Given the description of an element on the screen output the (x, y) to click on. 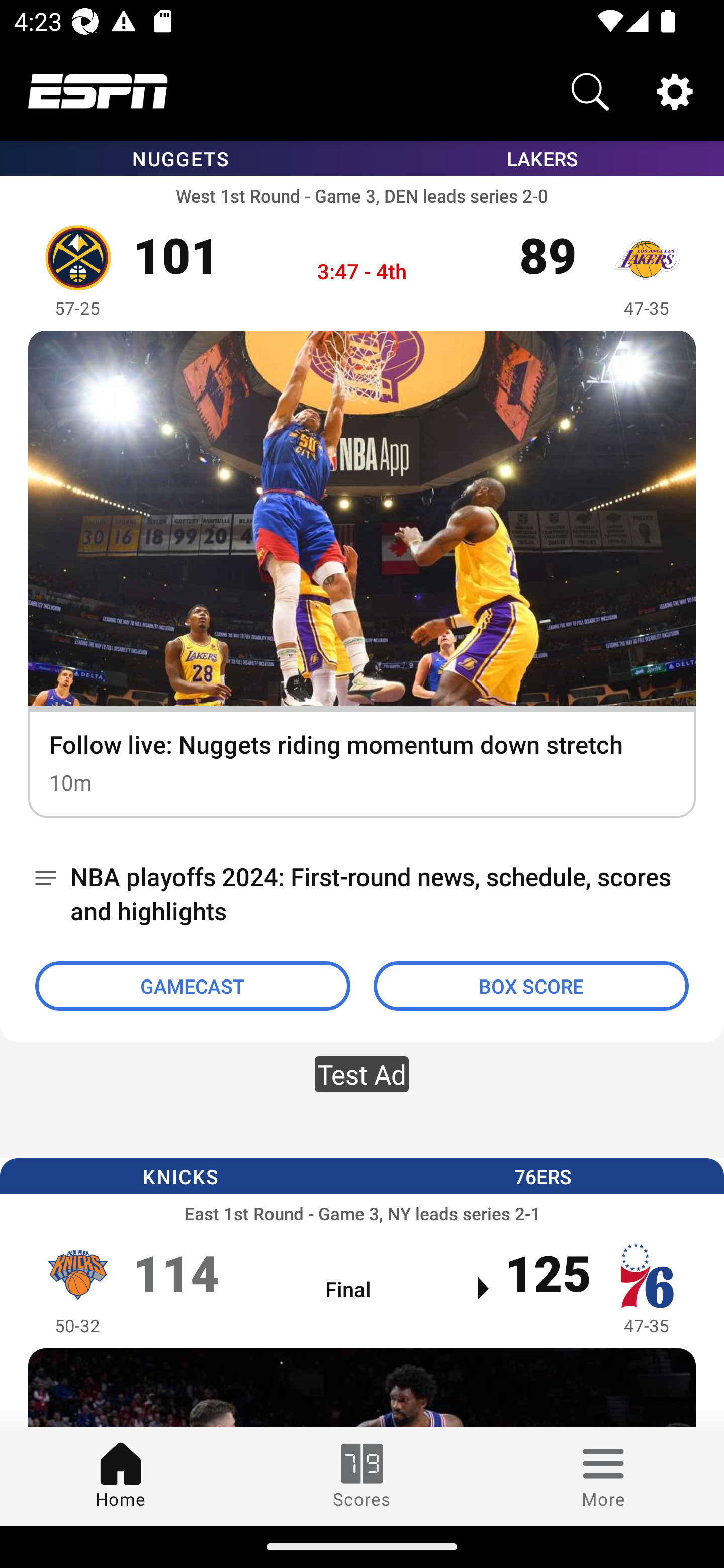
Search (590, 90)
Settings (674, 90)
GAMECAST (192, 986)
BOX SCORE (530, 986)
Scores (361, 1475)
More (603, 1475)
